Given the description of an element on the screen output the (x, y) to click on. 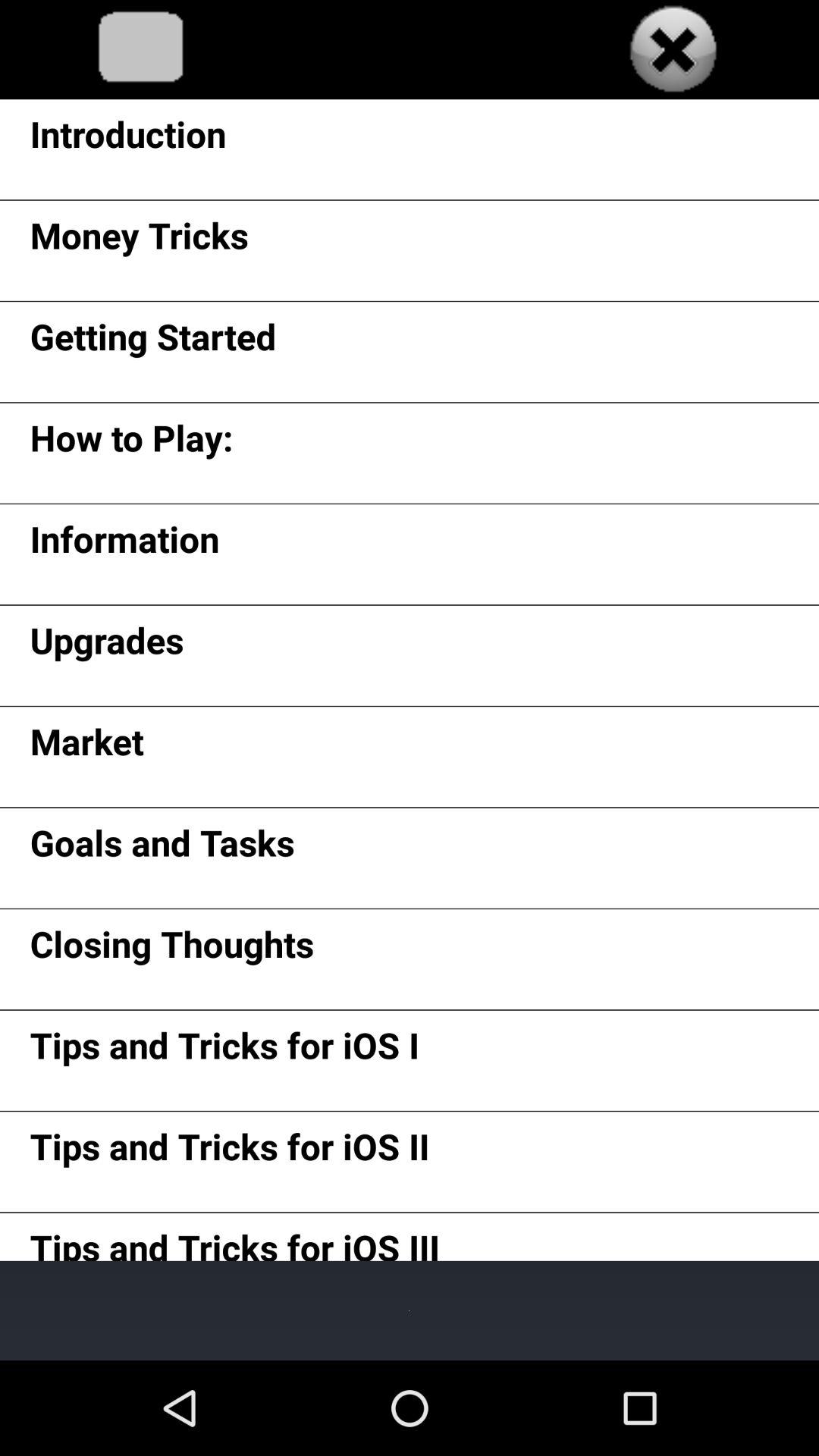
select the how to play: app (131, 443)
